Given the description of an element on the screen output the (x, y) to click on. 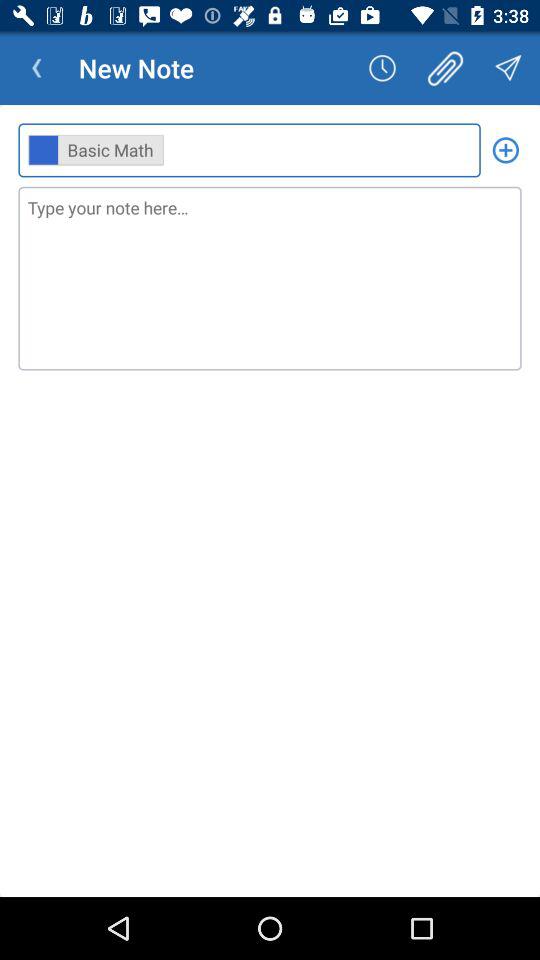
open the item above the ,,  item (381, 67)
